Given the description of an element on the screen output the (x, y) to click on. 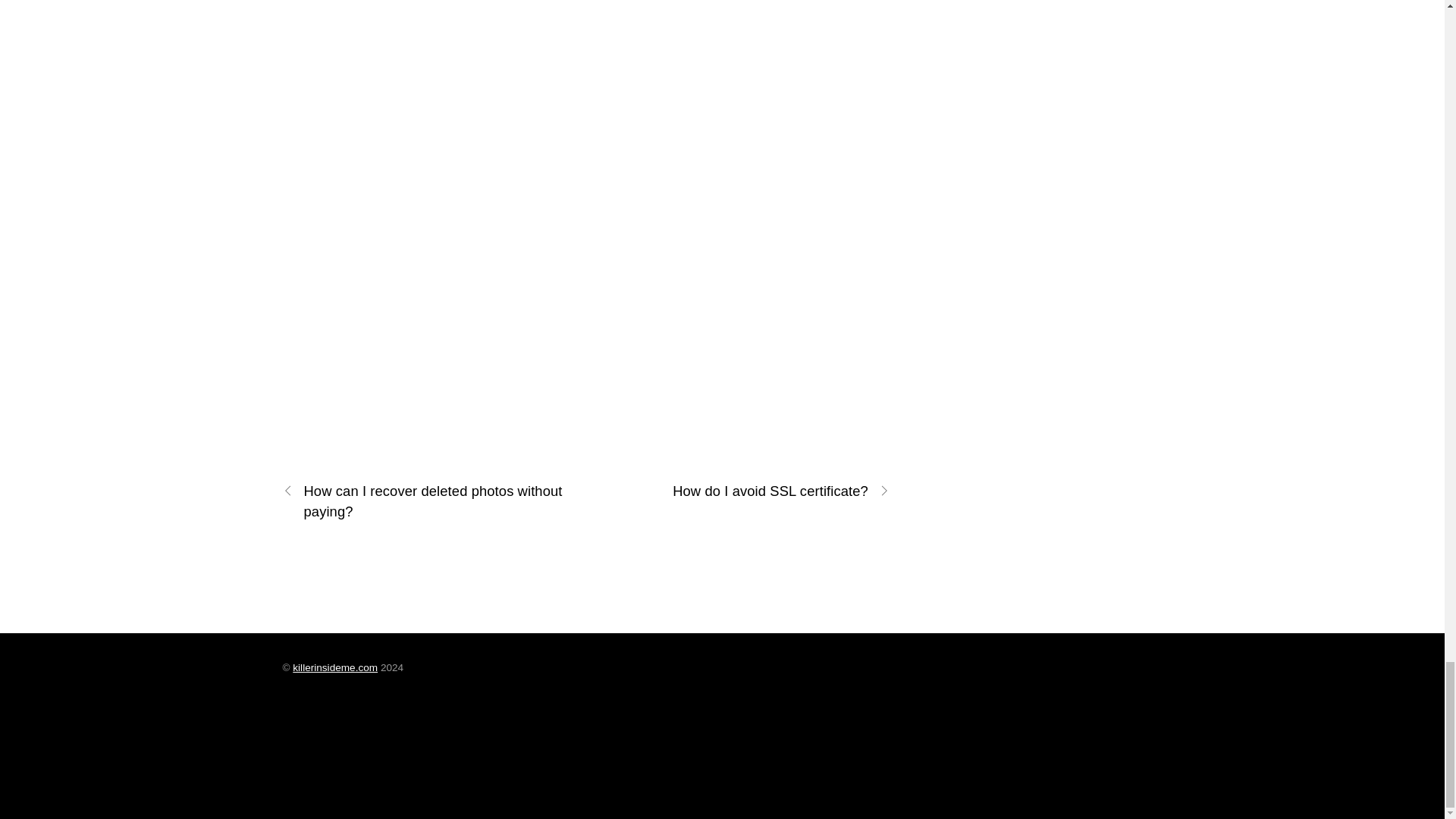
How do I avoid SSL certificate? (746, 490)
How can I recover deleted photos without paying? (424, 500)
killerinsideme.com (334, 667)
